Given the description of an element on the screen output the (x, y) to click on. 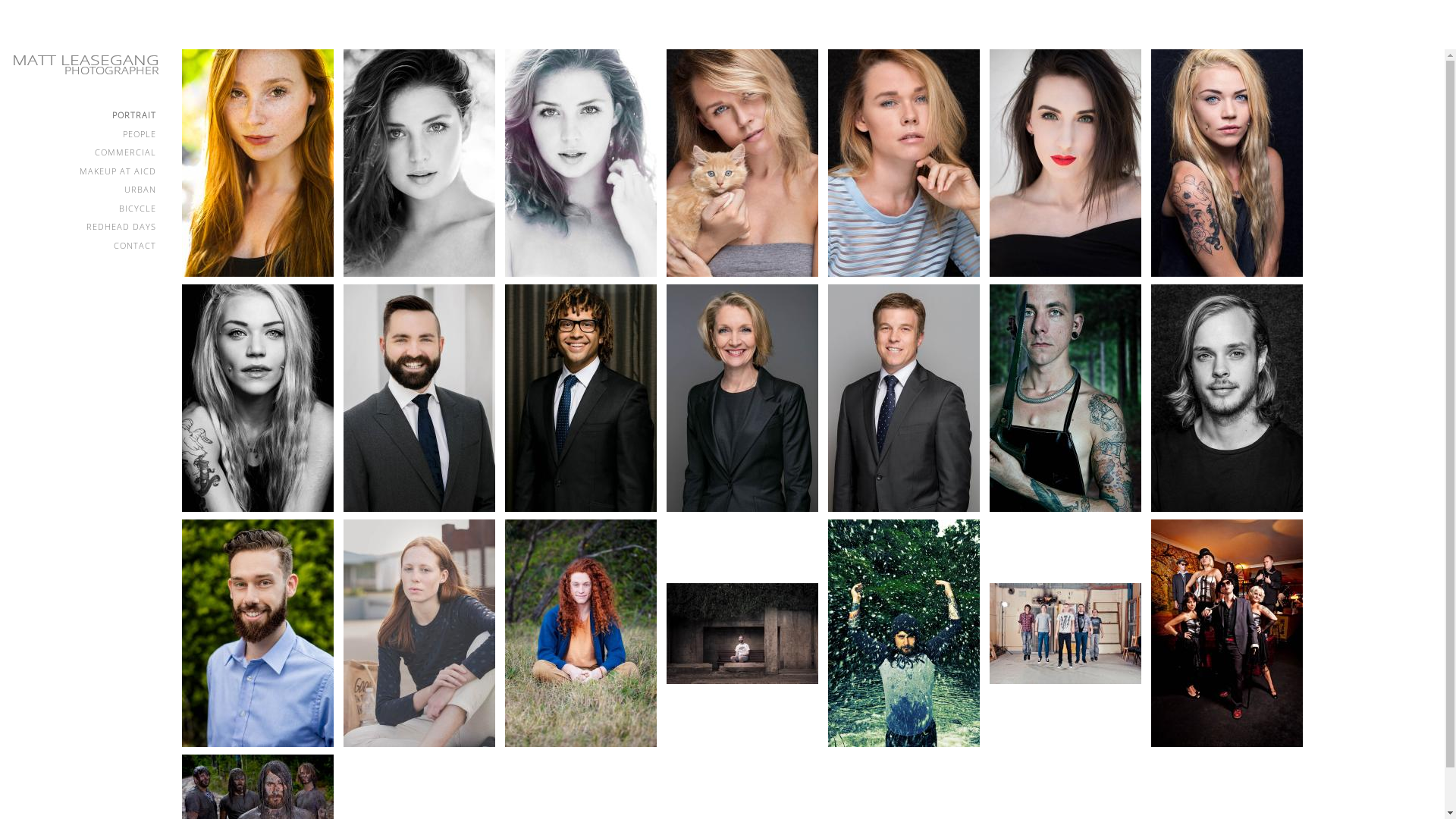
MAKEUP AT AICD Element type: text (83, 171)
CONTACT Element type: text (83, 245)
MATT LEASEGANG
PHOTOGRAPHER Element type: text (83, 64)
BICYCLE Element type: text (83, 208)
URBAN Element type: text (83, 189)
PEOPLE Element type: text (83, 134)
REDHEAD DAYS Element type: text (83, 226)
PORTRAIT Element type: text (83, 115)
COMMERCIAL Element type: text (83, 152)
